Given the description of an element on the screen output the (x, y) to click on. 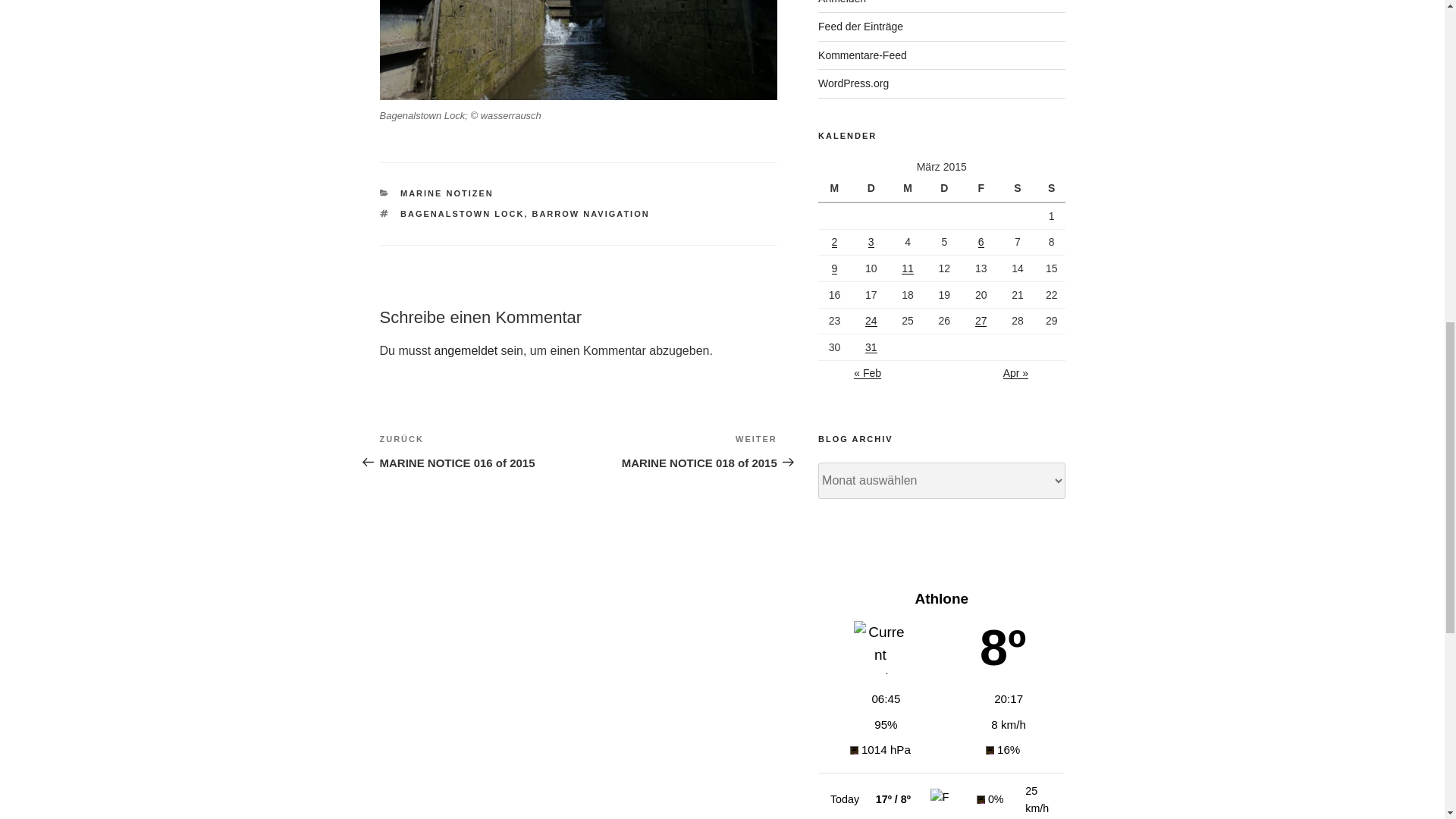
Freitag (982, 188)
Dienstag (872, 188)
Samstag (1019, 188)
Donnerstag (945, 188)
Mittwoch (909, 188)
Sonntag (1051, 188)
Montag (836, 188)
